Given the description of an element on the screen output the (x, y) to click on. 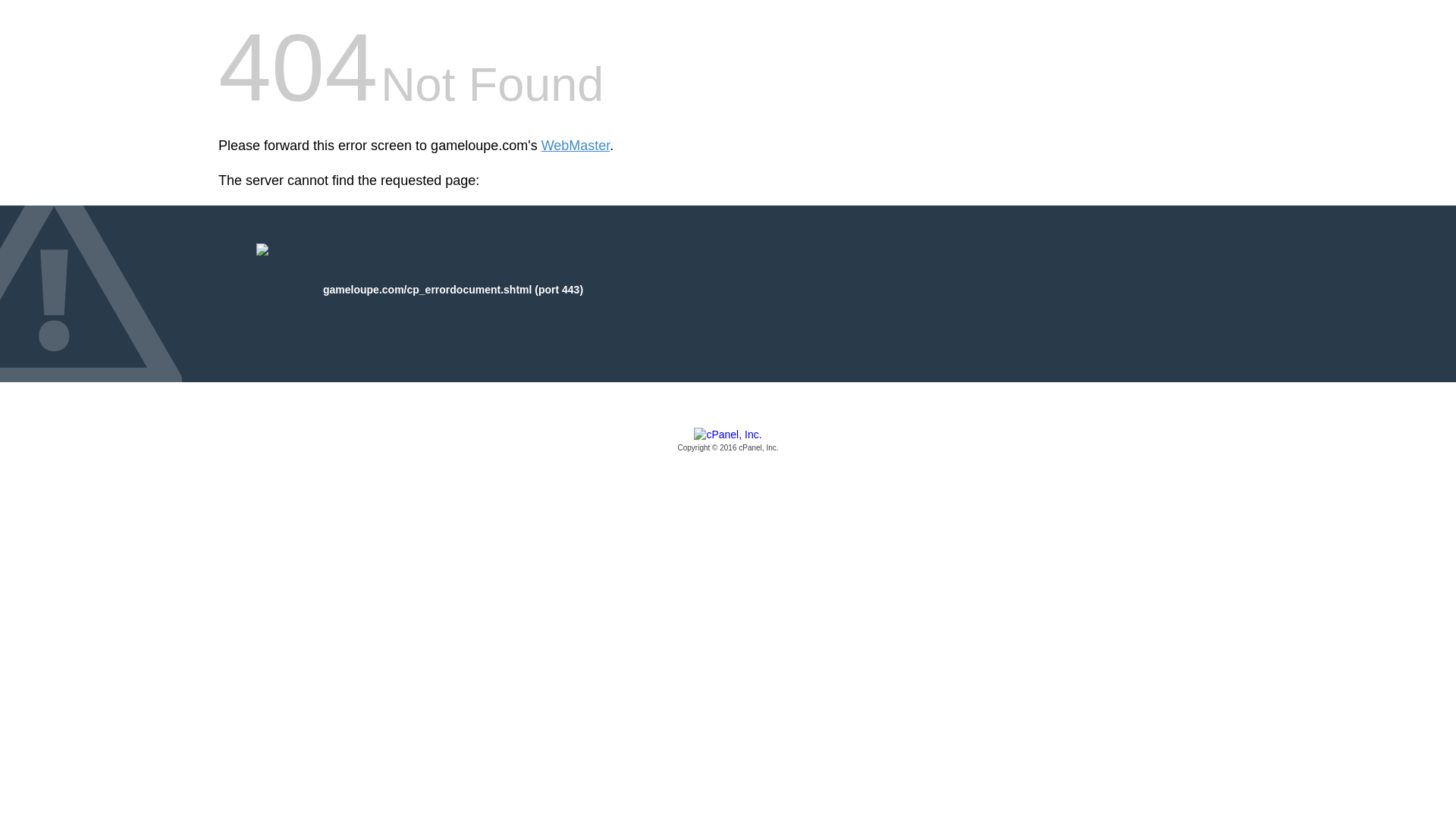
cPanel, Inc. (727, 440)
WebMaster (575, 145)
